Given the description of an element on the screen output the (x, y) to click on. 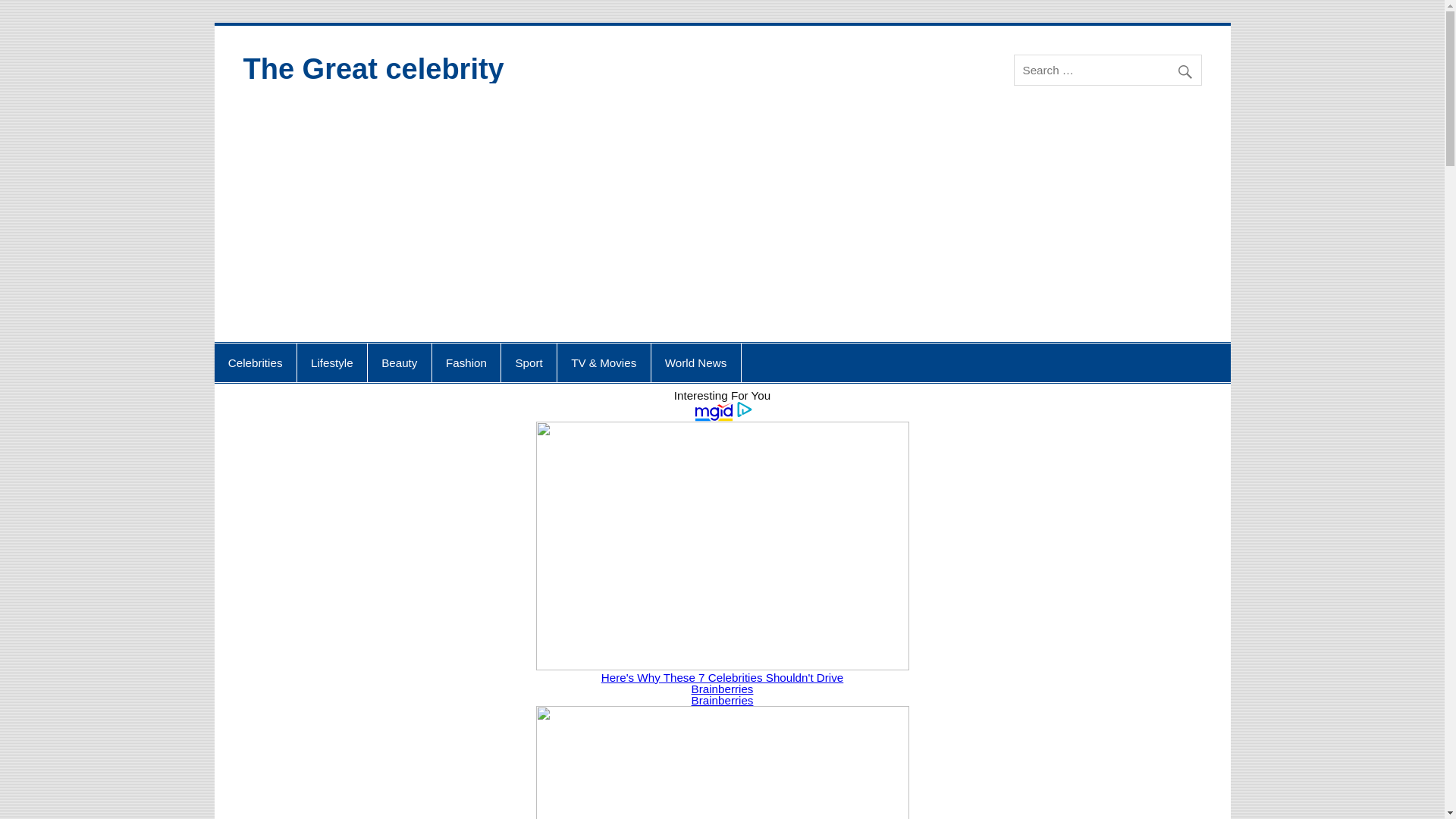
Lifestyle (331, 363)
Fashion (466, 363)
Celebrities (254, 363)
World News (695, 363)
The Great celebrity (373, 69)
Beauty (399, 363)
Sport (528, 363)
